Given the description of an element on the screen output the (x, y) to click on. 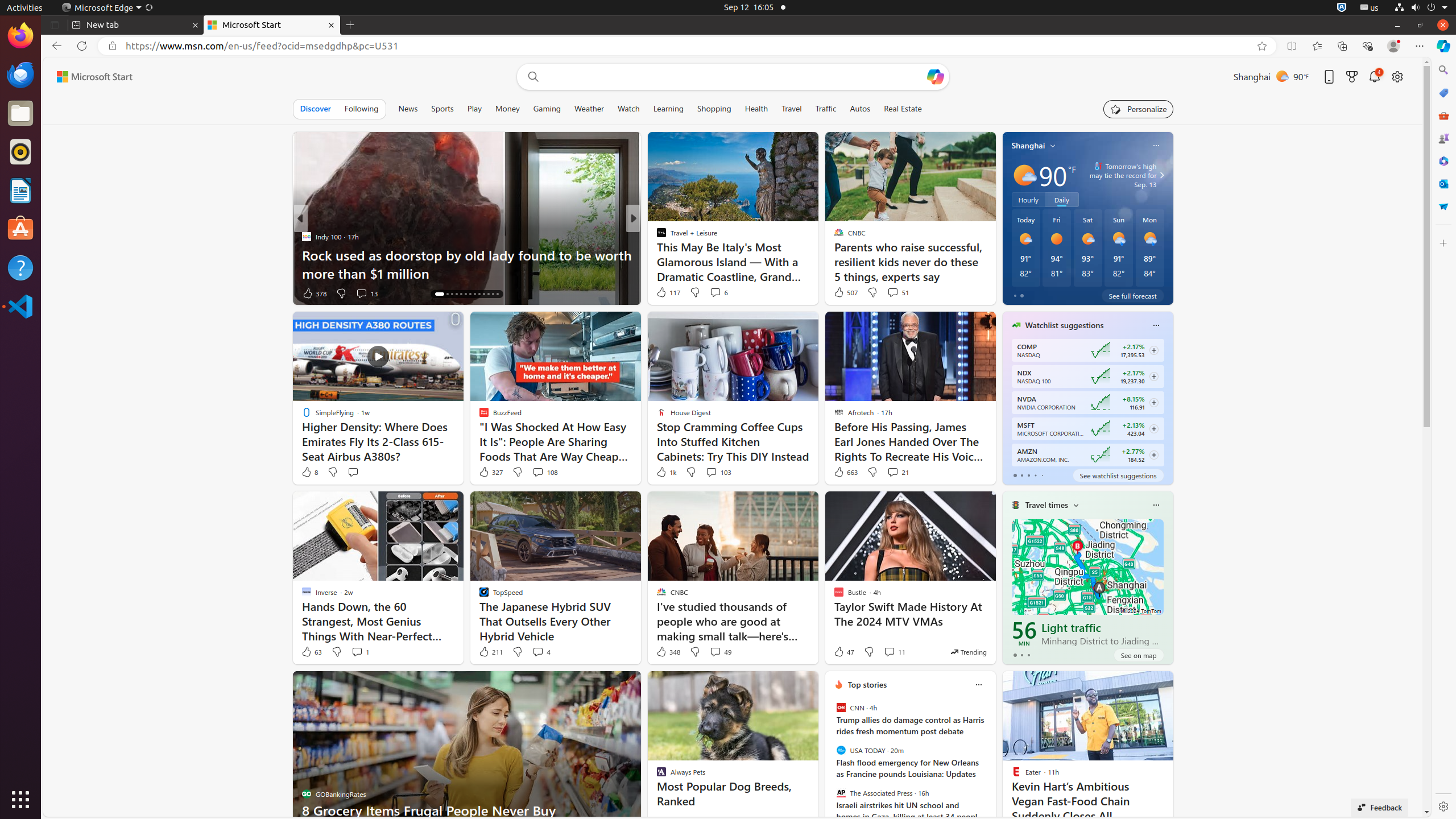
See full forecast Element type: push-button (1132, 295)
327 Like Element type: toggle-button (490, 472)
Skip to footer Element type: push-button (87, 76)
507 Like Element type: toggle-button (845, 292)
Advertise Element type: link (1267, 809)
